Given the description of an element on the screen output the (x, y) to click on. 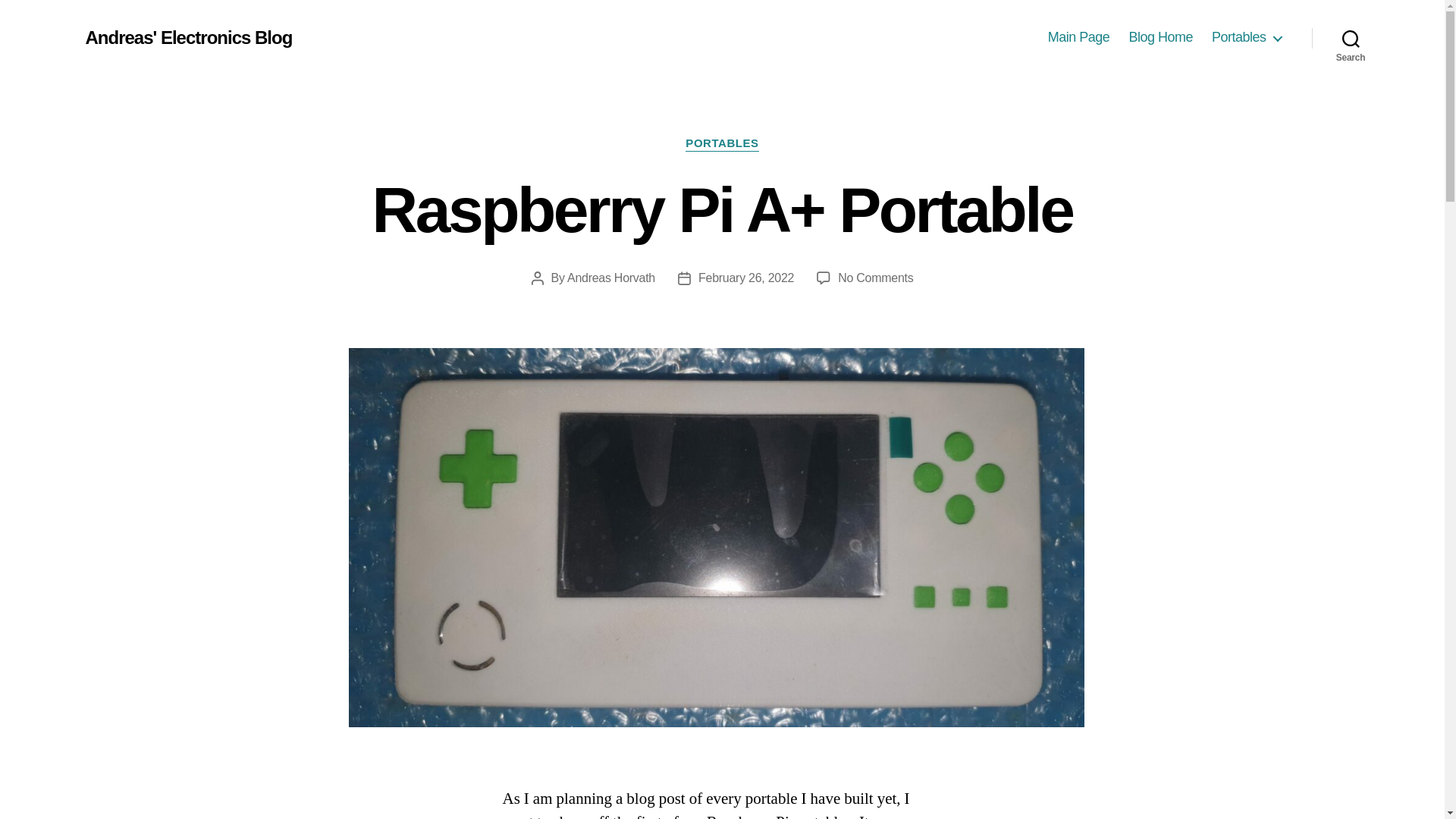
Main Page (1078, 37)
Search (1350, 37)
Andreas' Electronics Blog (188, 37)
Portables (1246, 37)
Blog Home (1160, 37)
February 26, 2022 (745, 277)
PORTABLES (721, 143)
Andreas Horvath (611, 277)
